Given the description of an element on the screen output the (x, y) to click on. 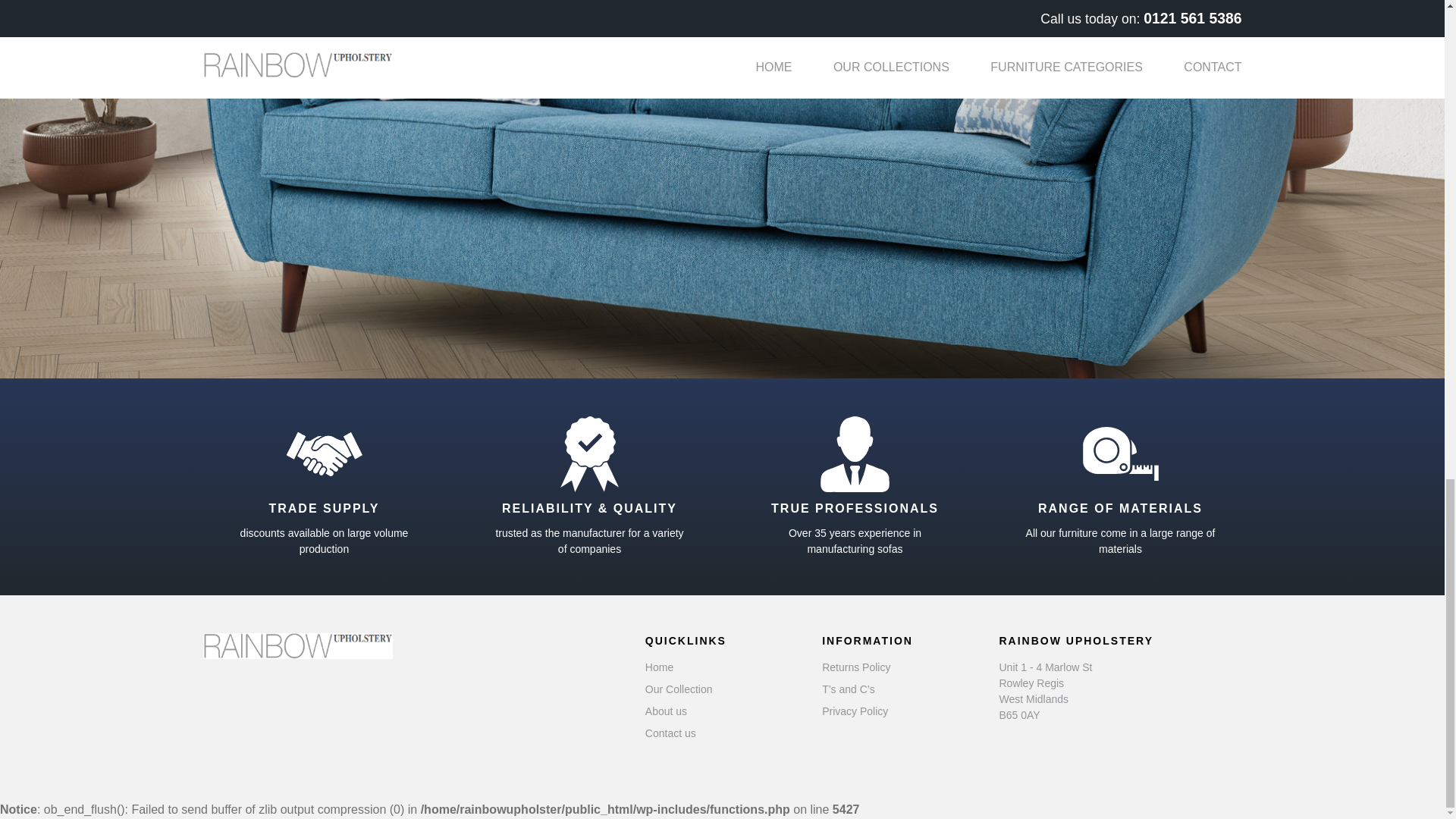
Returns Policy (855, 666)
Privacy Policy (855, 711)
Home (658, 666)
Contact us (670, 733)
Our Collection (679, 689)
About us (666, 711)
